Given the description of an element on the screen output the (x, y) to click on. 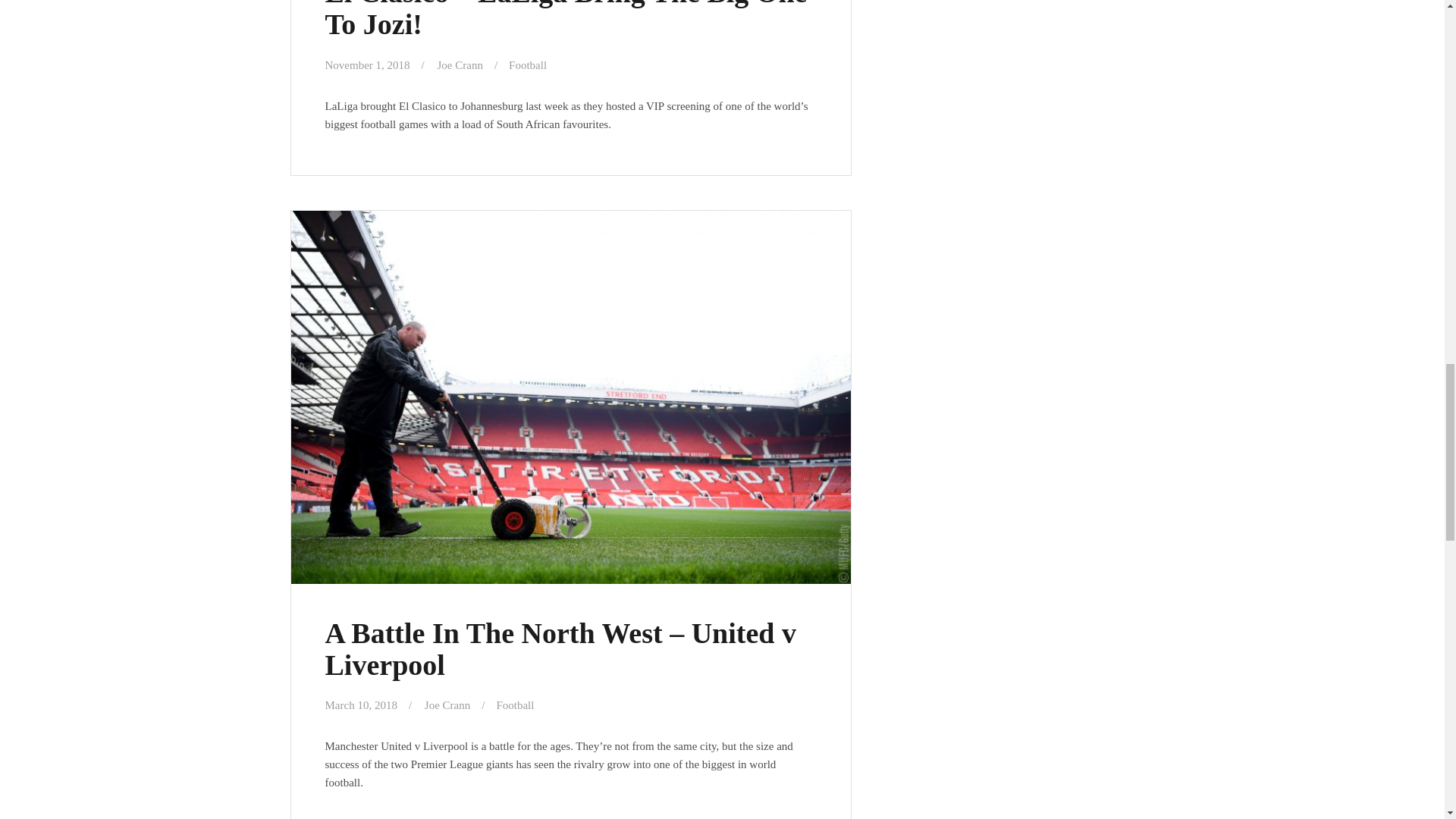
Joe Crann (458, 64)
November 1, 2018 (366, 64)
Football (527, 64)
March 10, 2018 (360, 705)
